Given the description of an element on the screen output the (x, y) to click on. 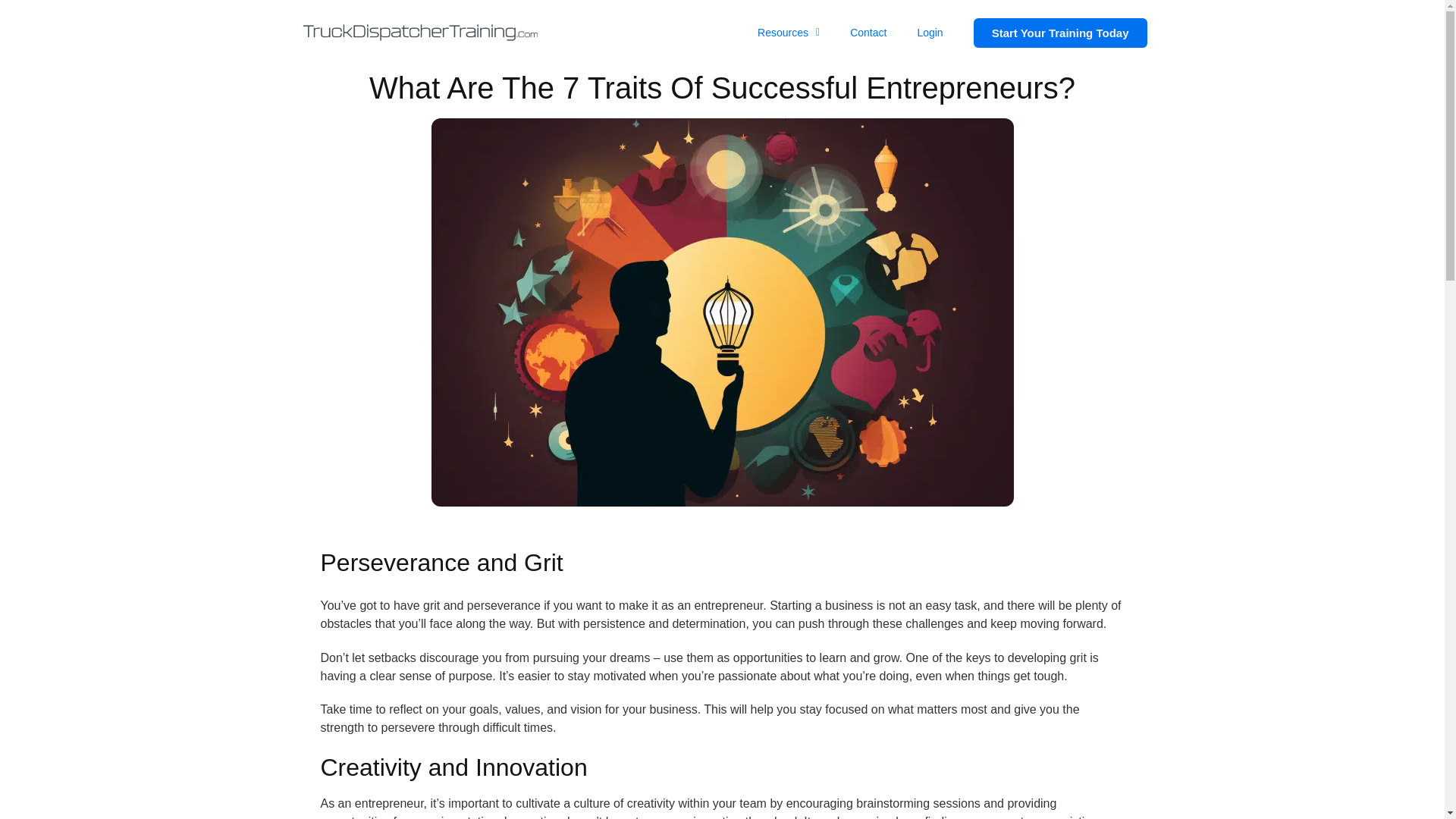
Login (929, 32)
Start Your Training Today (1060, 32)
Resources (788, 32)
Contact (867, 32)
